Given the description of an element on the screen output the (x, y) to click on. 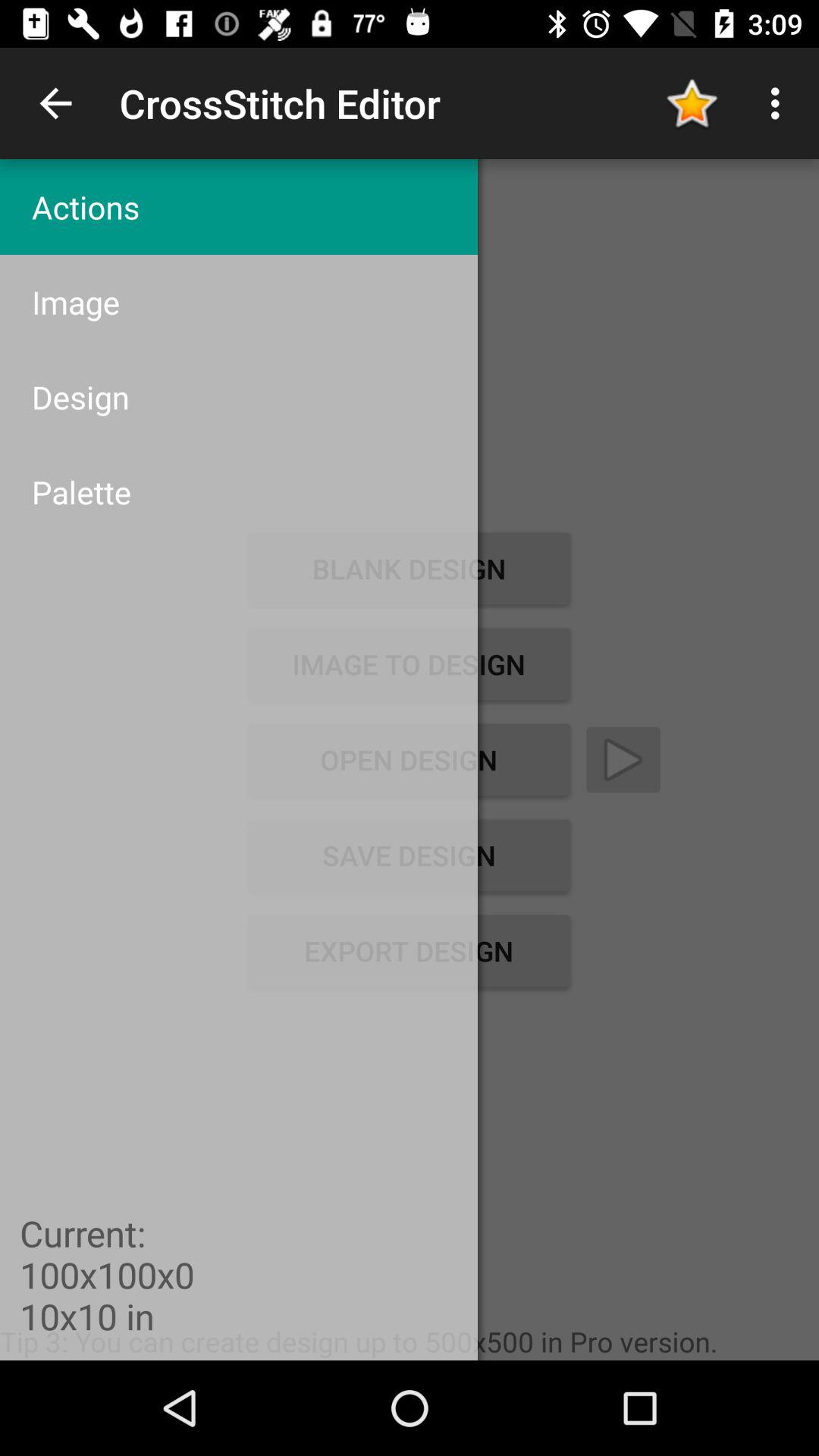
click app next to crossstitch editor item (55, 103)
